Given the description of an element on the screen output the (x, y) to click on. 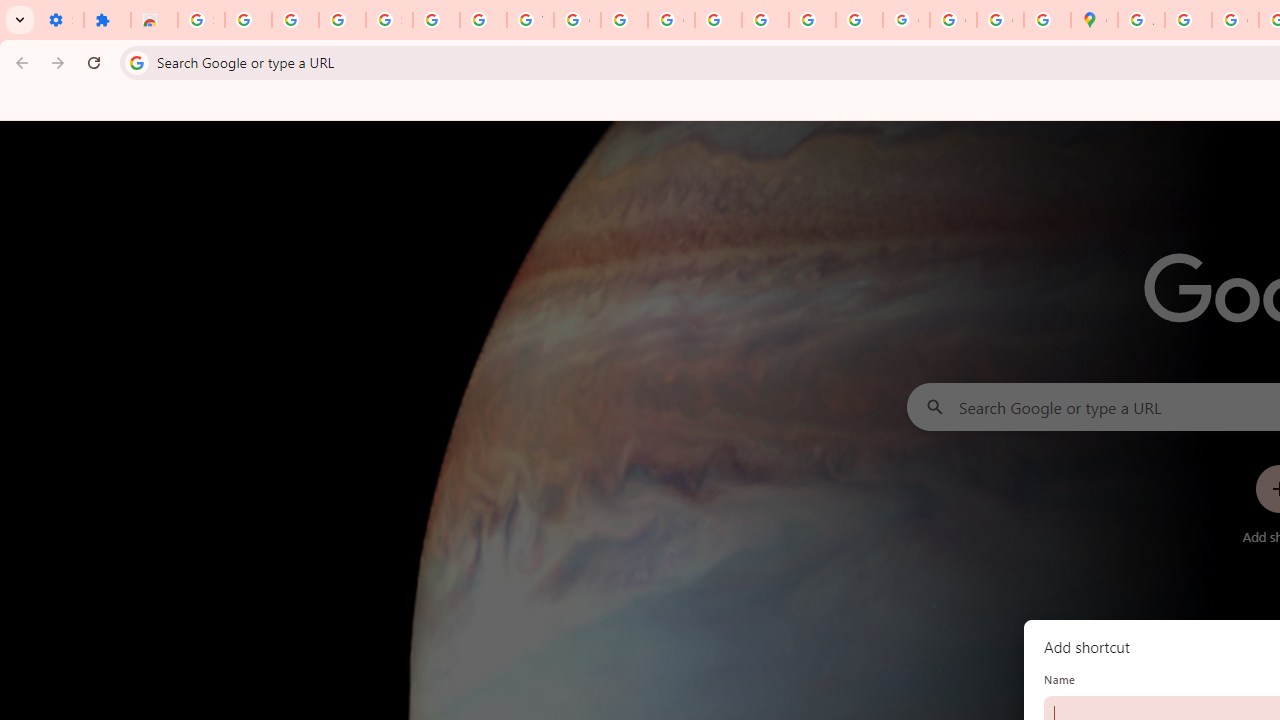
Settings - On startup (60, 20)
